Given the description of an element on the screen output the (x, y) to click on. 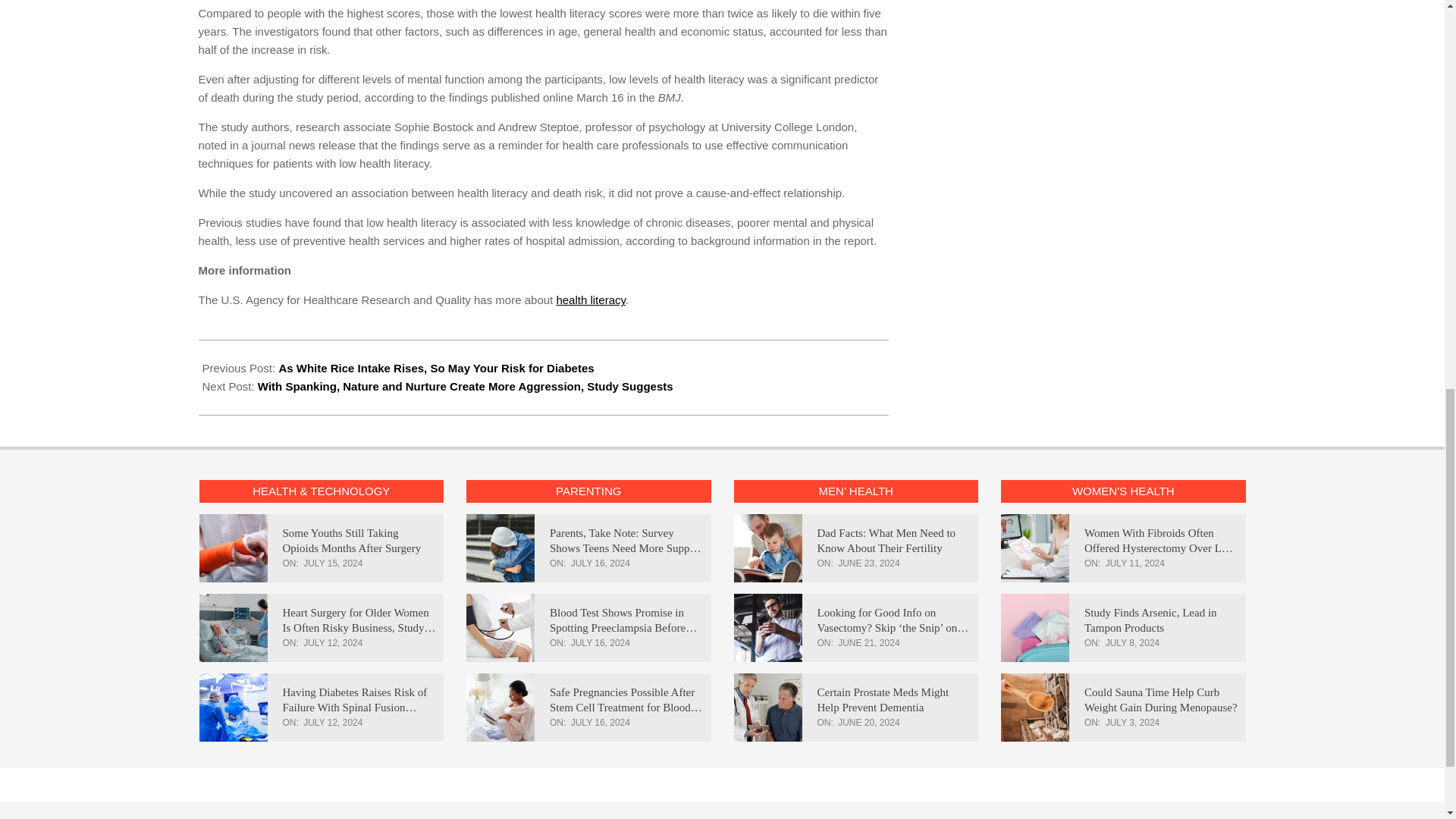
Monday, July 15, 2024, 10:04 am (332, 562)
Wednesday, July 3, 2024, 12:02 pm (1132, 722)
Thursday, June 20, 2024, 9:49 am (868, 722)
Friday, July 12, 2024, 11:09 am (332, 643)
Monday, July 8, 2024, 12:46 pm (1132, 643)
Tuesday, July 16, 2024, 11:01 am (600, 562)
Friday, July 12, 2024, 11:09 am (332, 722)
Thursday, July 11, 2024, 12:36 pm (1134, 562)
Tuesday, July 16, 2024, 10:40 am (600, 643)
Friday, June 21, 2024, 9:21 am (868, 643)
Sunday, June 23, 2024, 1:00 pm (868, 562)
Tuesday, July 16, 2024, 10:31 am (600, 722)
